Given the description of an element on the screen output the (x, y) to click on. 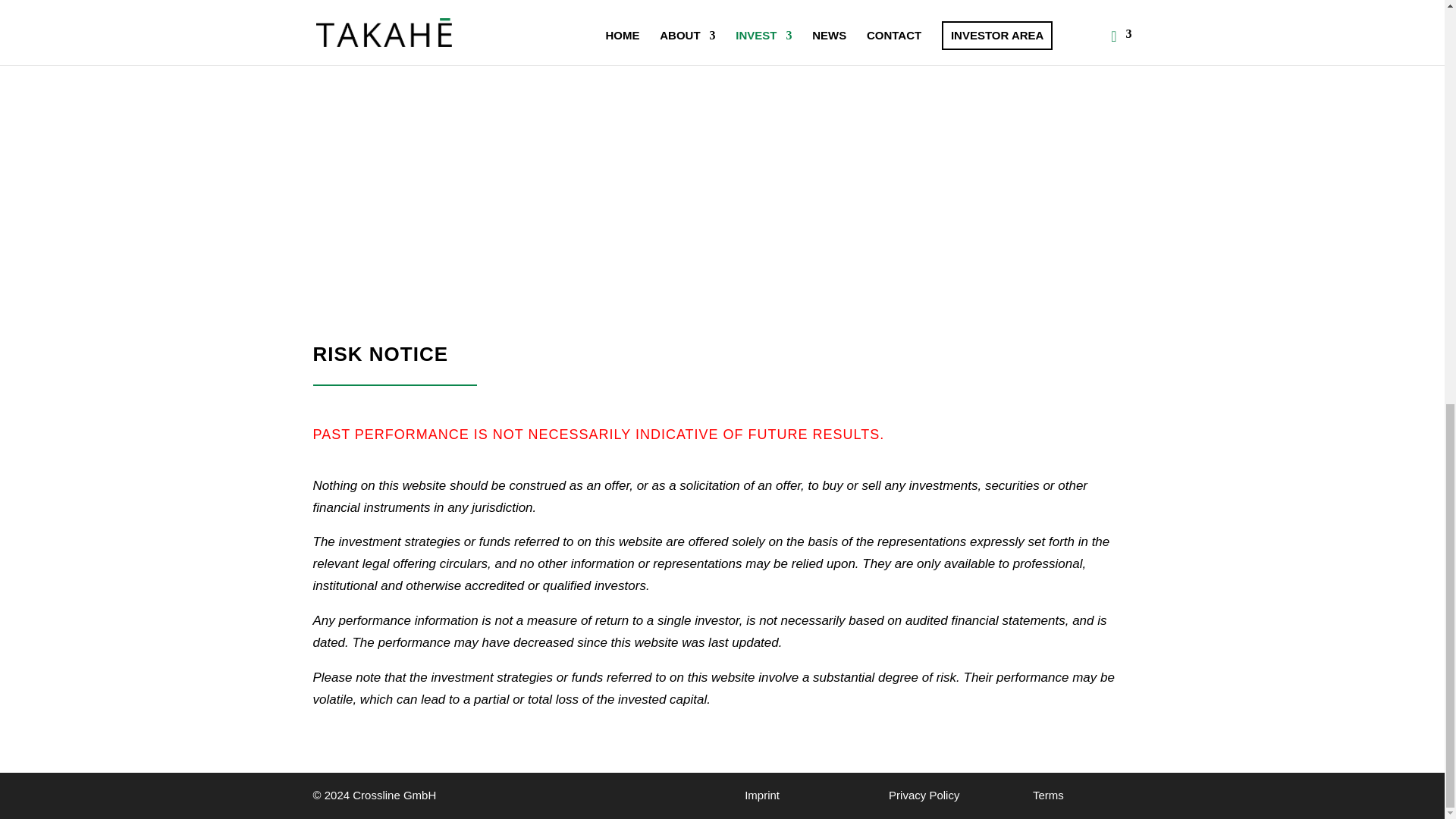
Terms (1048, 794)
Imprint (761, 794)
Privacy Policy (923, 794)
